Given the description of an element on the screen output the (x, y) to click on. 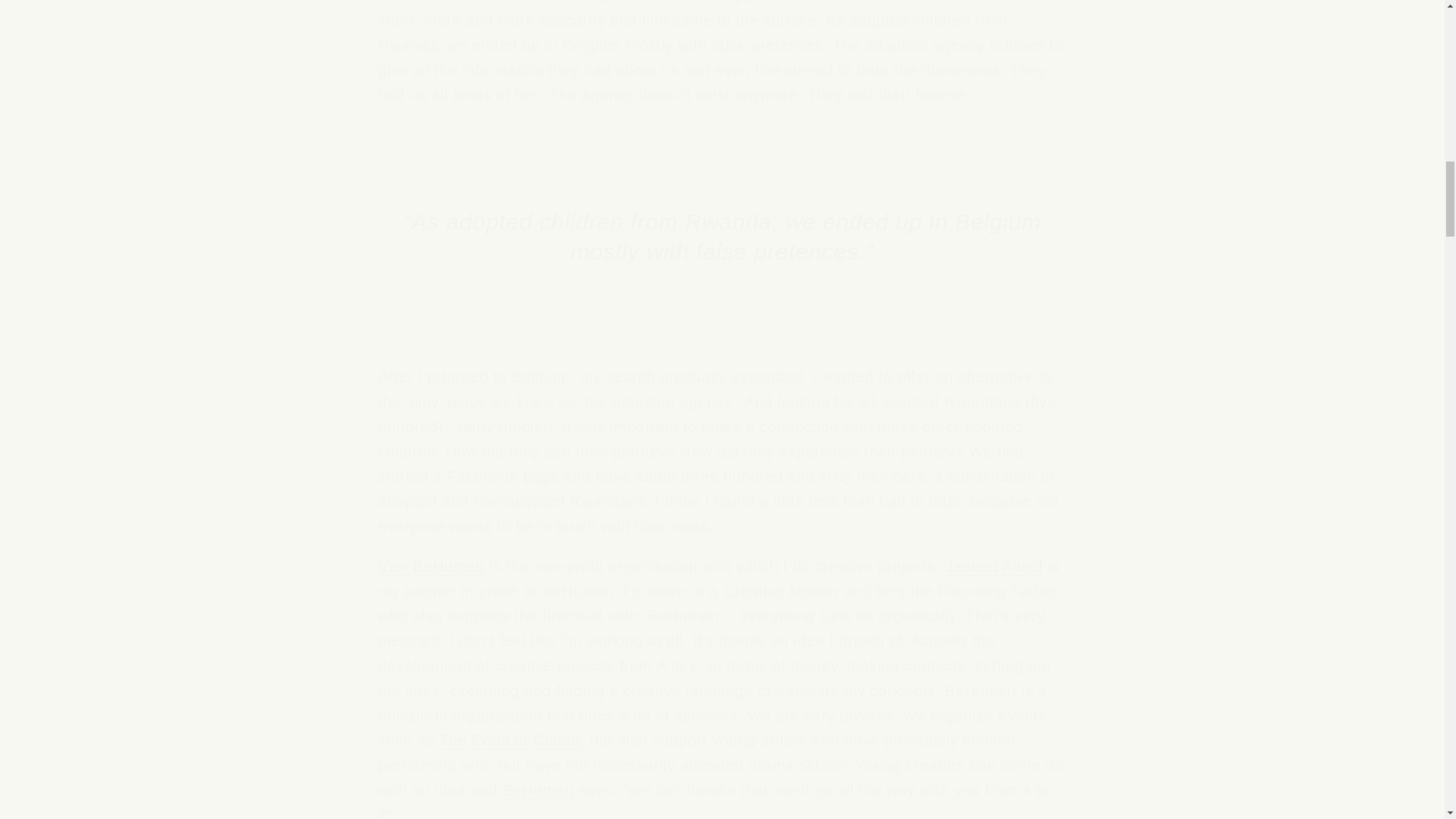
The Pride of Colour (509, 740)
BeHuman (537, 790)
Jaouad Alloul (993, 565)
Behuman (431, 565)
The Pride of Colour (509, 740)
Vzw BeHuman (431, 565)
Jaouad Alloul (993, 565)
Behuman (537, 790)
